Given the description of an element on the screen output the (x, y) to click on. 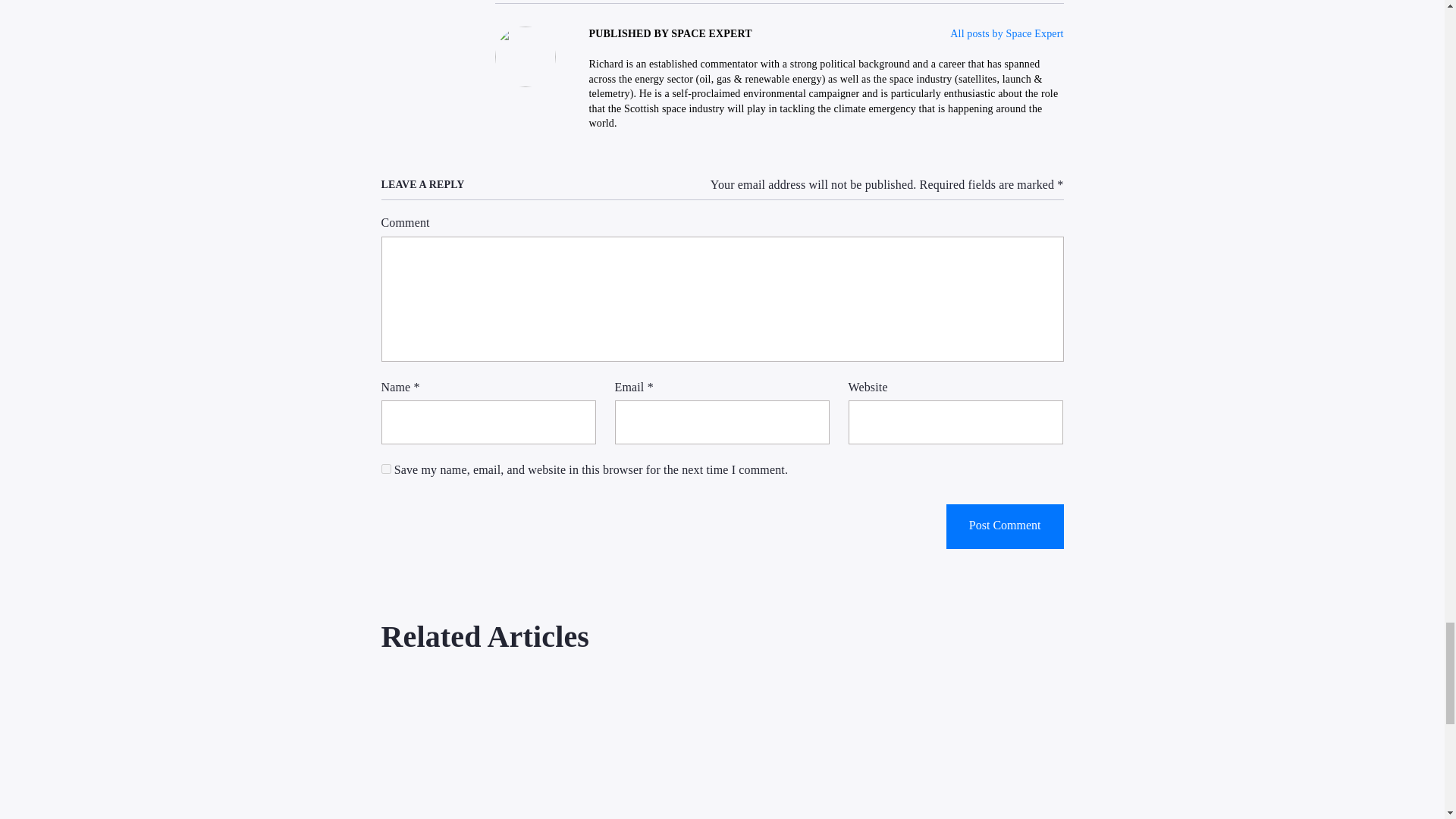
yes (385, 469)
Post Comment (1005, 525)
Shetland Space Centre financial backers brought to question (721, 748)
Skyrora Applies For A SaxaVord Launch Operator Licence (486, 748)
